Given the description of an element on the screen output the (x, y) to click on. 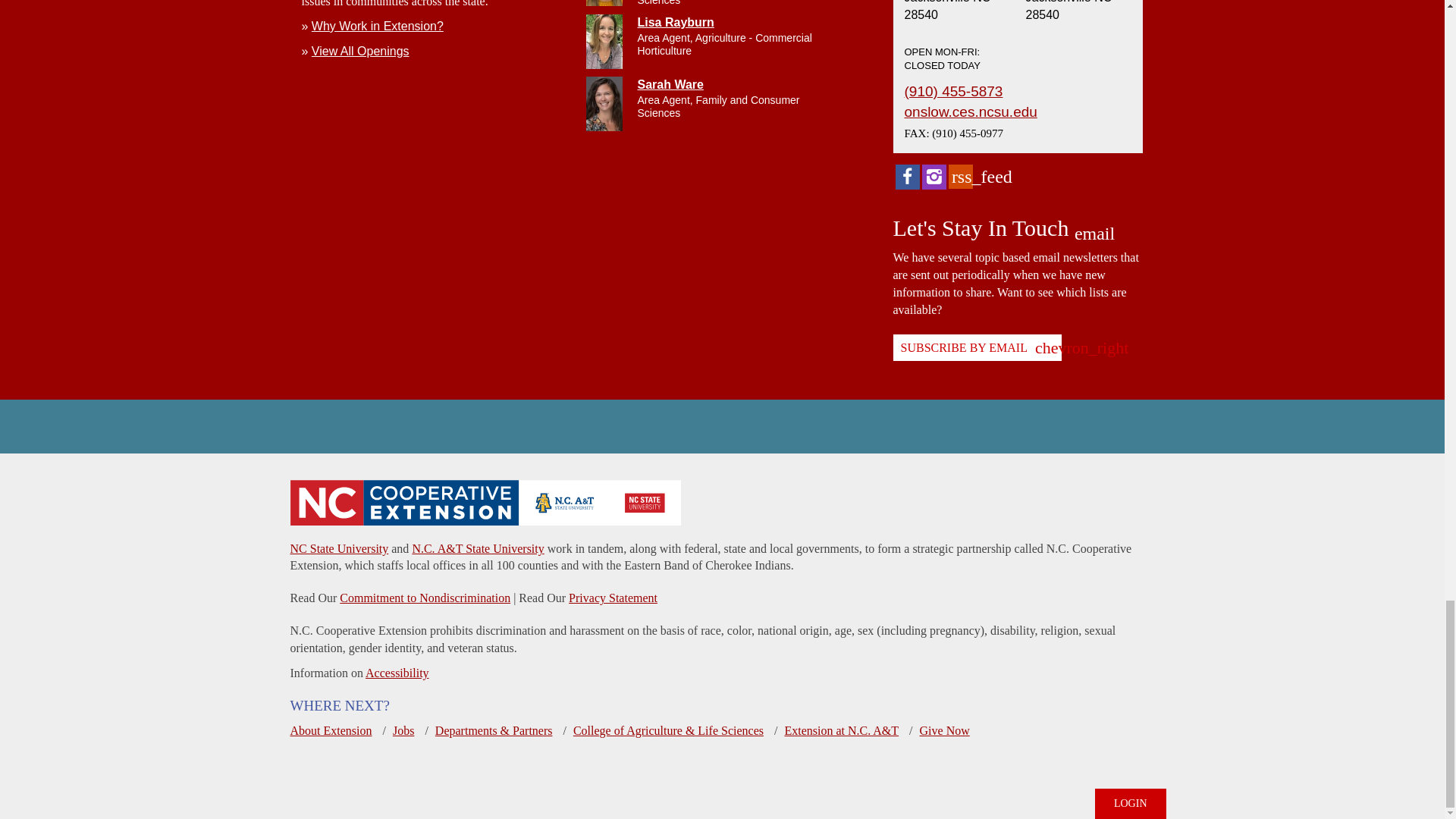
Subscribe by RSS Feed (960, 176)
